Given the description of an element on the screen output the (x, y) to click on. 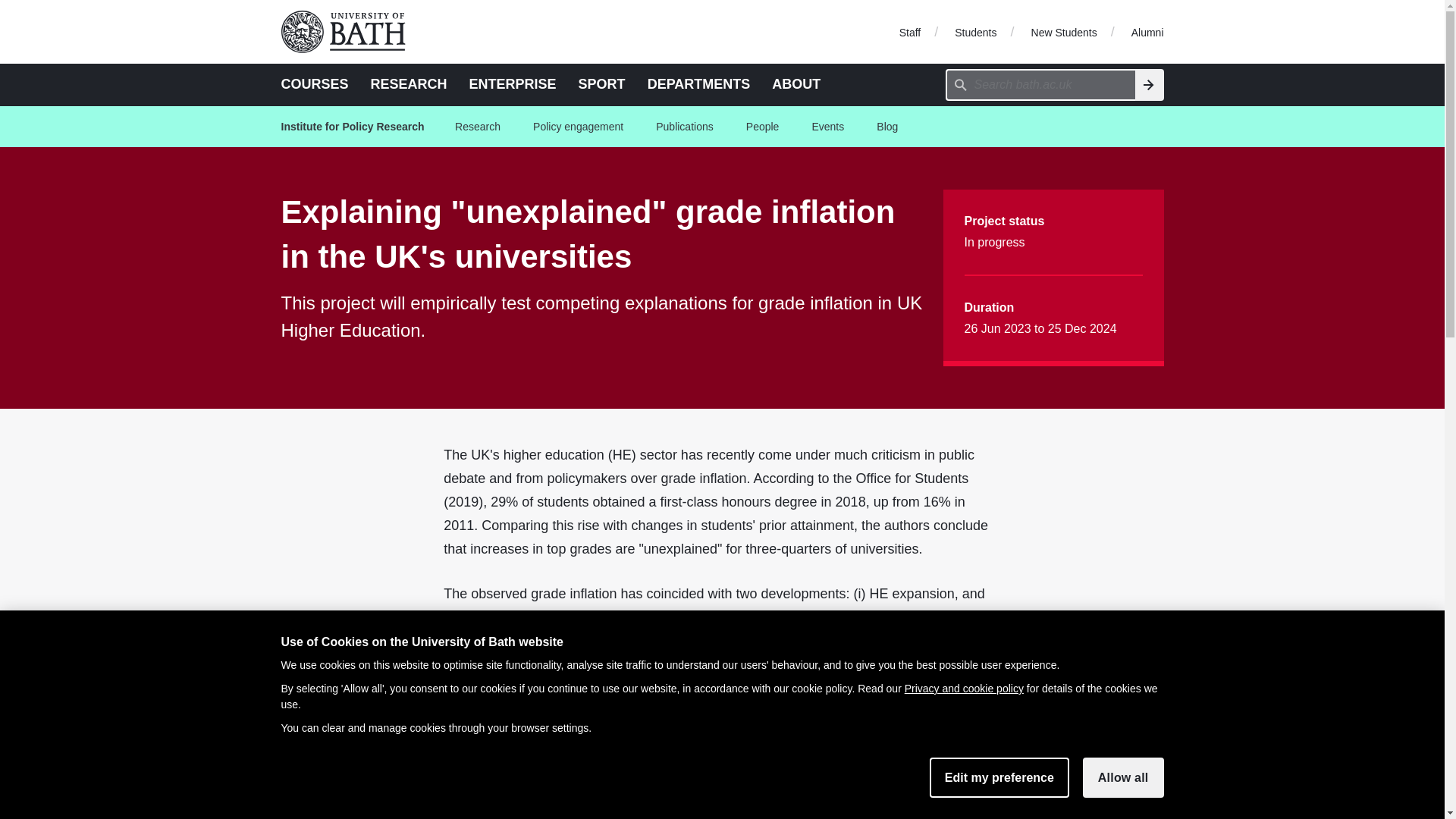
Research (477, 126)
COURSES (314, 83)
Students (975, 31)
Staff (910, 31)
Edit my preference (999, 777)
Privacy and cookie policy (963, 688)
ABOUT (796, 83)
University of Bath (348, 31)
ENTERPRISE (512, 83)
Alumni (1147, 31)
